Given the description of an element on the screen output the (x, y) to click on. 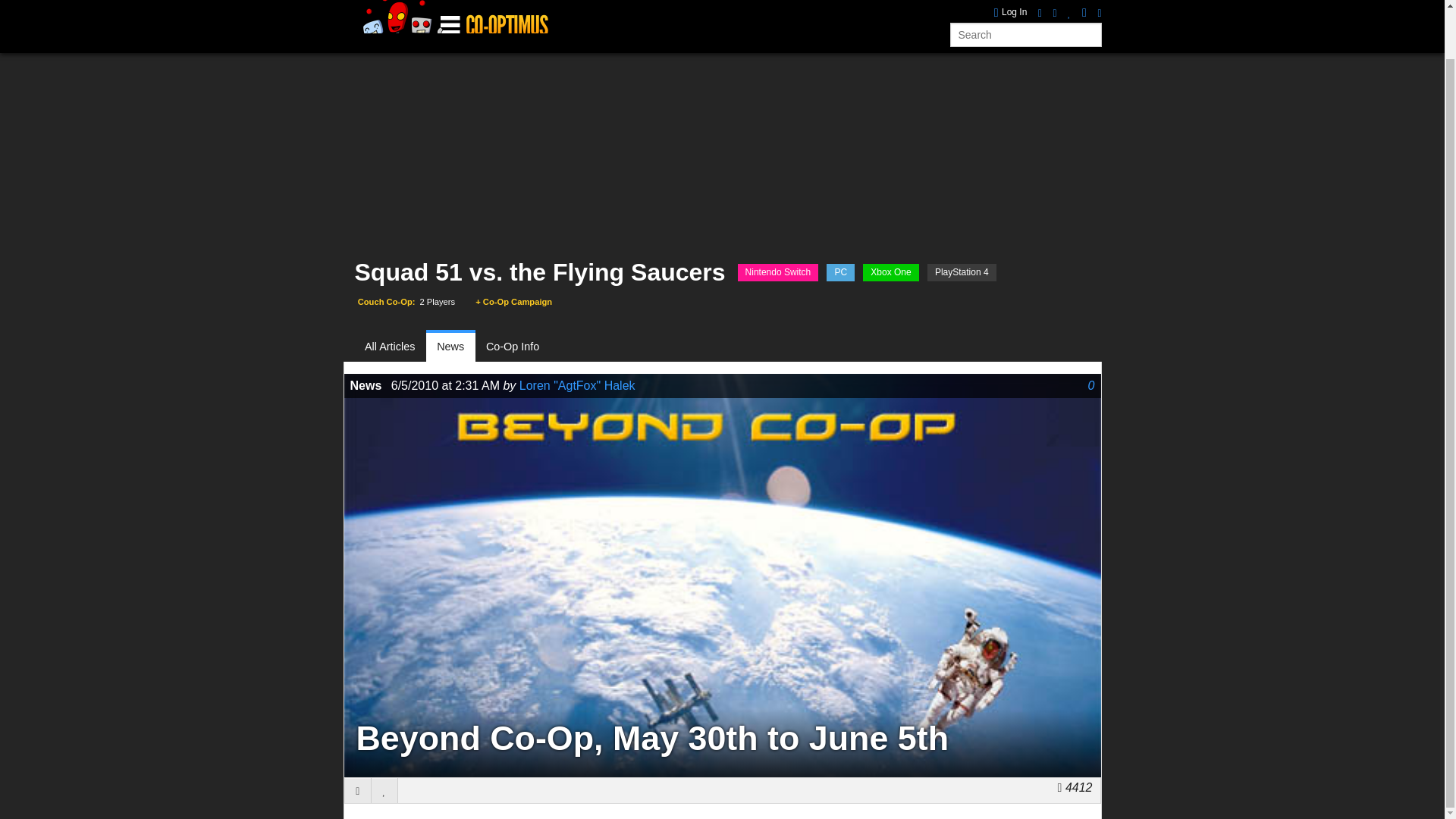
Co-Op Games (401, 15)
Stream Recaps (659, 15)
Xbox One (890, 272)
Weekly Video Streams and VODs from Co-Optimus (659, 15)
News (451, 346)
Reviews (526, 15)
All Articles (395, 346)
Videos (584, 15)
Co-Op Info (513, 346)
Nintendo Switch (778, 272)
